Given the description of an element on the screen output the (x, y) to click on. 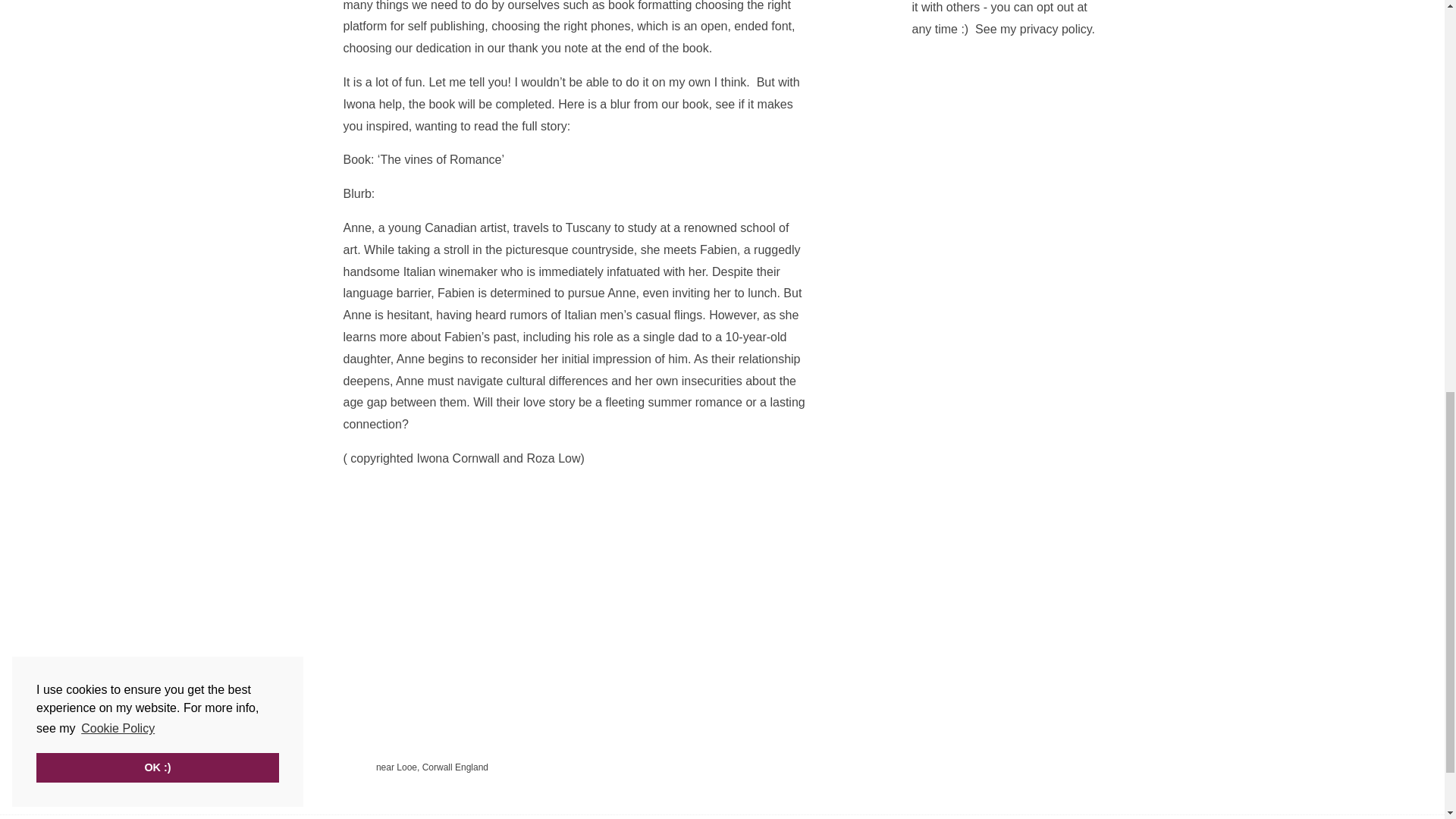
privacy policy (1056, 29)
